Given the description of an element on the screen output the (x, y) to click on. 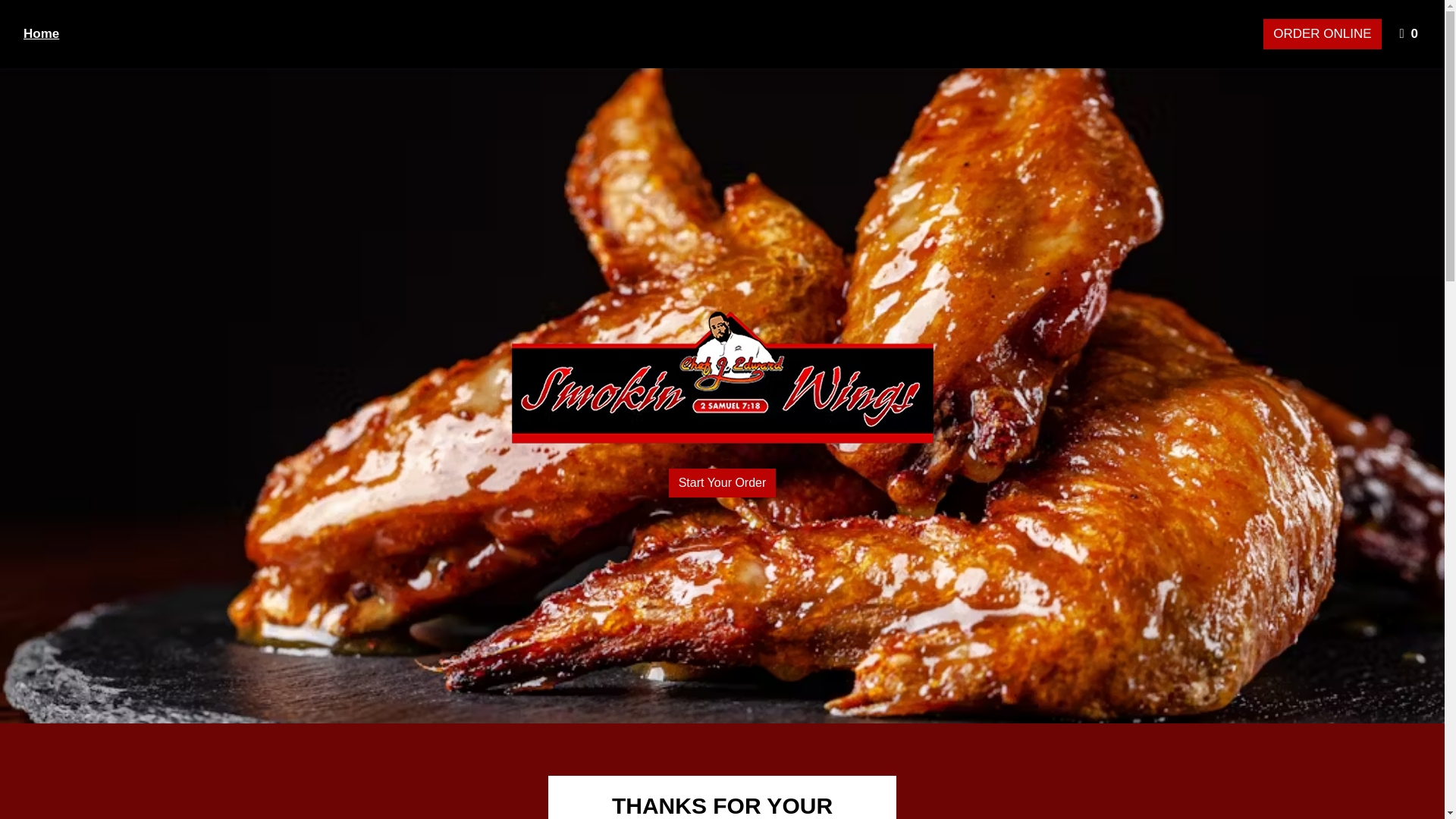
Home (41, 33)
ORDER ONLINE (1409, 33)
Start Your Order (1321, 33)
